Given the description of an element on the screen output the (x, y) to click on. 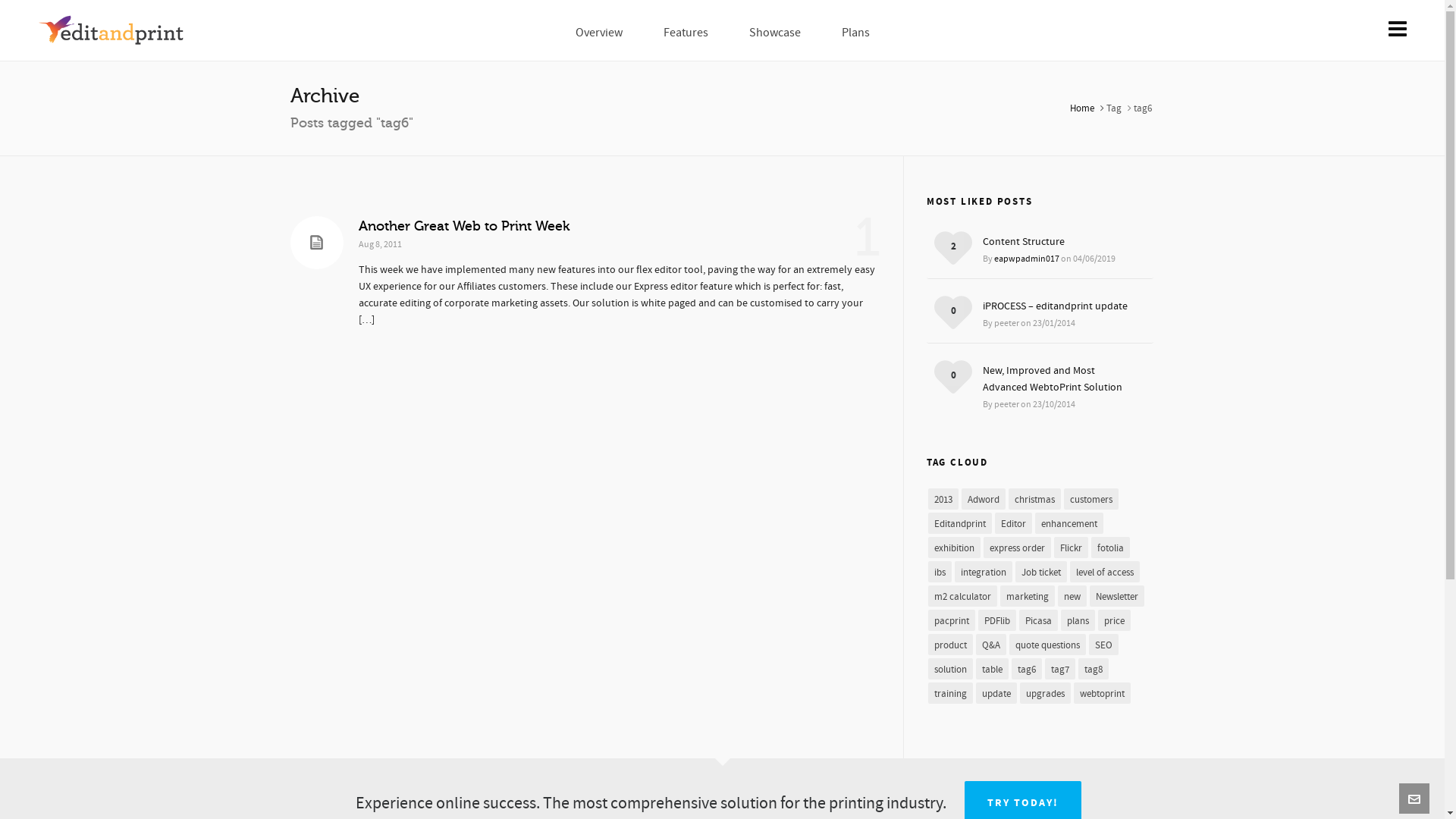
Home Element type: text (1081, 108)
eapwpadmin017 Element type: text (1026, 258)
2013 Element type: text (943, 498)
Q&A Element type: text (990, 644)
Plans Element type: text (855, 30)
training Element type: text (950, 692)
update Element type: text (995, 692)
new Element type: text (1071, 595)
fotolia Element type: text (1110, 547)
Picasa Element type: text (1038, 619)
0 Element type: text (953, 375)
table Element type: text (991, 668)
level of access Element type: text (1104, 571)
pacprint Element type: text (951, 619)
Overview Element type: text (598, 30)
Showcase Element type: text (774, 30)
Job ticket Element type: text (1040, 571)
Flickr Element type: text (1071, 547)
New, Improved and Most Advanced WebtoPrint Solution Element type: text (1061, 378)
tag6 Element type: text (1026, 668)
Another Great Web to Print Week Element type: text (462, 225)
0 Element type: text (953, 310)
Content Structure Element type: text (1061, 241)
tag8 Element type: text (1093, 668)
solution Element type: text (950, 668)
exhibition Element type: text (954, 547)
express order Element type: text (1017, 547)
2 Element type: text (953, 246)
plans Element type: text (1077, 619)
Editandprint Element type: text (959, 522)
marketing Element type: text (1027, 595)
Features Element type: text (685, 30)
price Element type: text (1114, 619)
SEO Element type: text (1103, 644)
customers Element type: text (1090, 498)
integration Element type: text (983, 571)
ibs Element type: text (939, 571)
christmas Element type: text (1034, 498)
Another Great Web to Print Week Element type: hover (315, 242)
quote questions Element type: text (1047, 644)
enhancement Element type: text (1069, 522)
tag7 Element type: text (1059, 668)
m2 calculator Element type: text (962, 595)
Editor Element type: text (1013, 522)
Adword Element type: text (983, 498)
Newsletter Element type: text (1116, 595)
PDFlib Element type: text (997, 619)
upgrades Element type: text (1044, 692)
product Element type: text (950, 644)
webtoprint Element type: text (1101, 692)
